Given the description of an element on the screen output the (x, y) to click on. 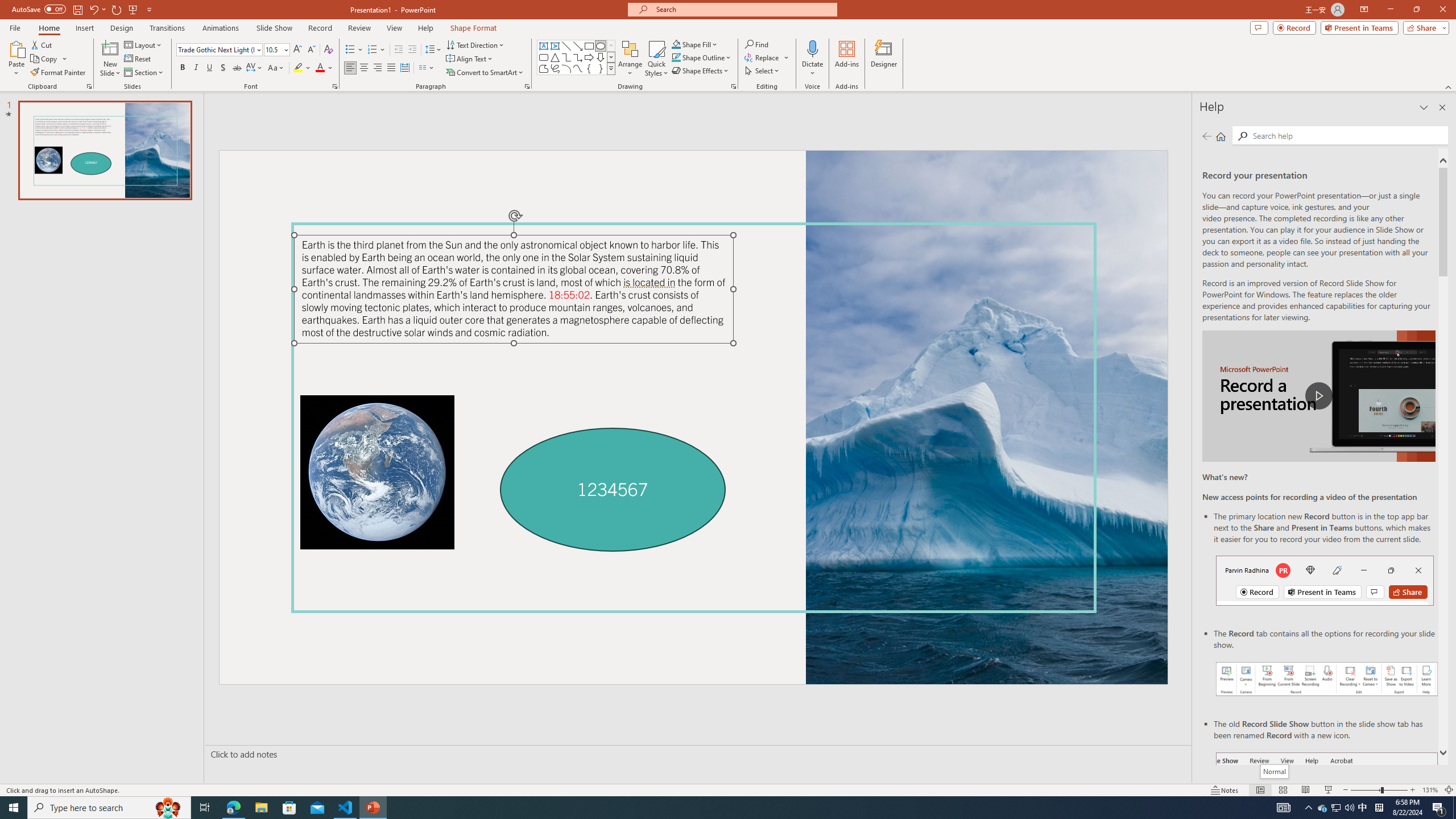
Zoom 131% (1430, 790)
